Given the description of an element on the screen output the (x, y) to click on. 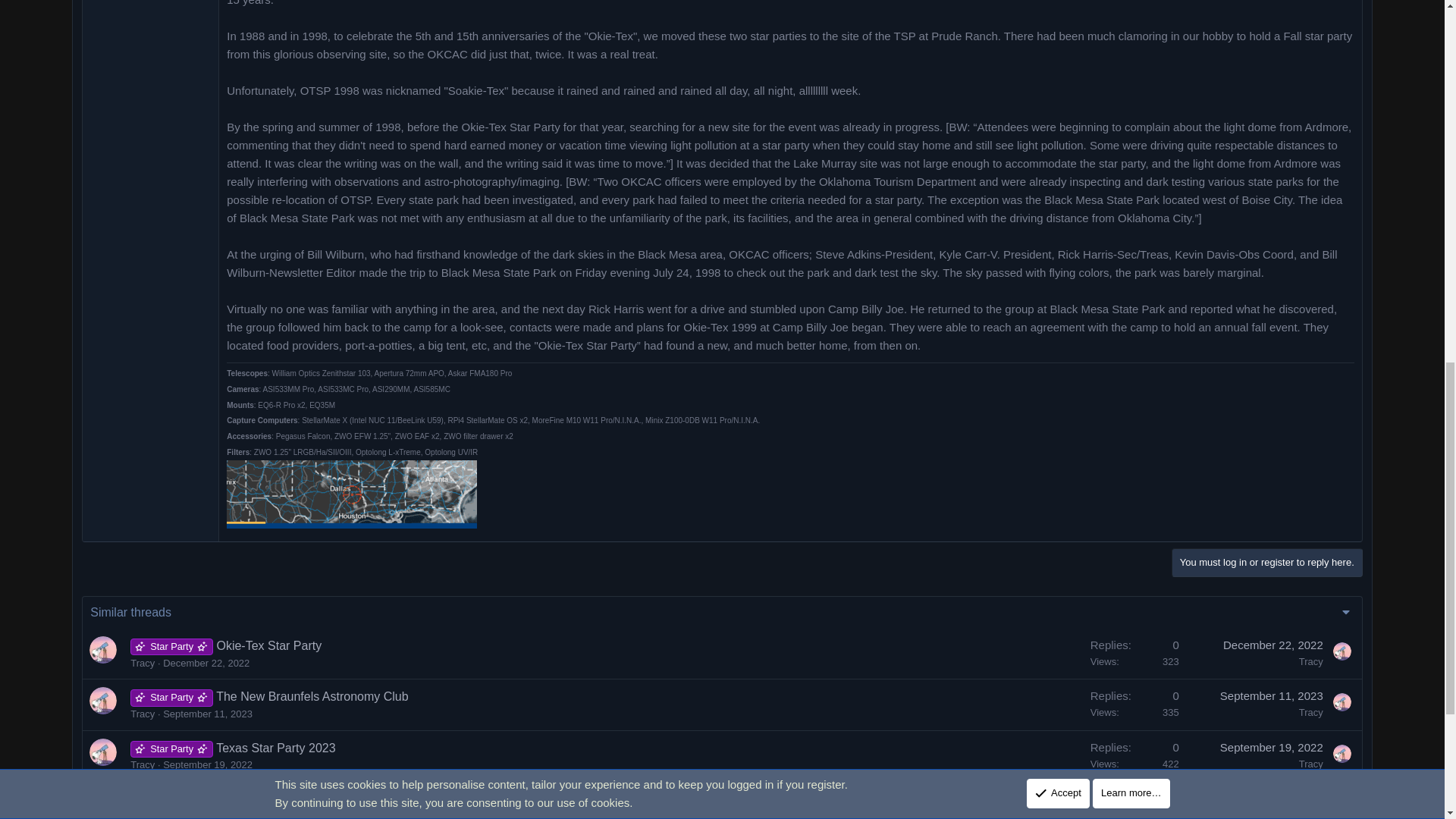
December 22, 2022 at 10:01 PM (205, 662)
First message reaction score: 1 (1134, 653)
sig.gif (352, 496)
